Given the description of an element on the screen output the (x, y) to click on. 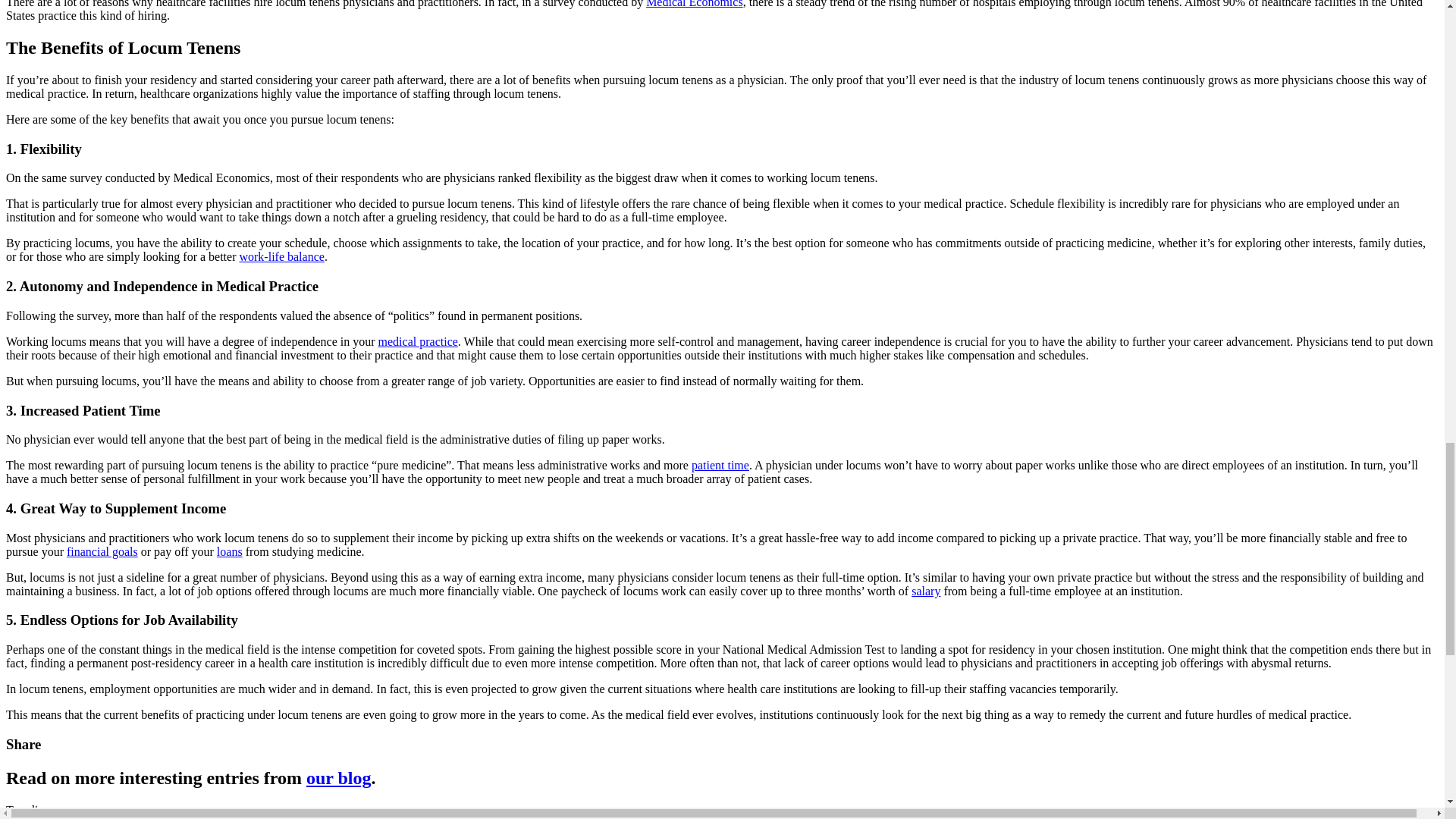
work-life balance (280, 256)
Medical Economics (694, 4)
loans (229, 551)
financial goals (102, 551)
salary (925, 590)
medical practice (418, 341)
our blog (338, 777)
patient time (720, 464)
